Given the description of an element on the screen output the (x, y) to click on. 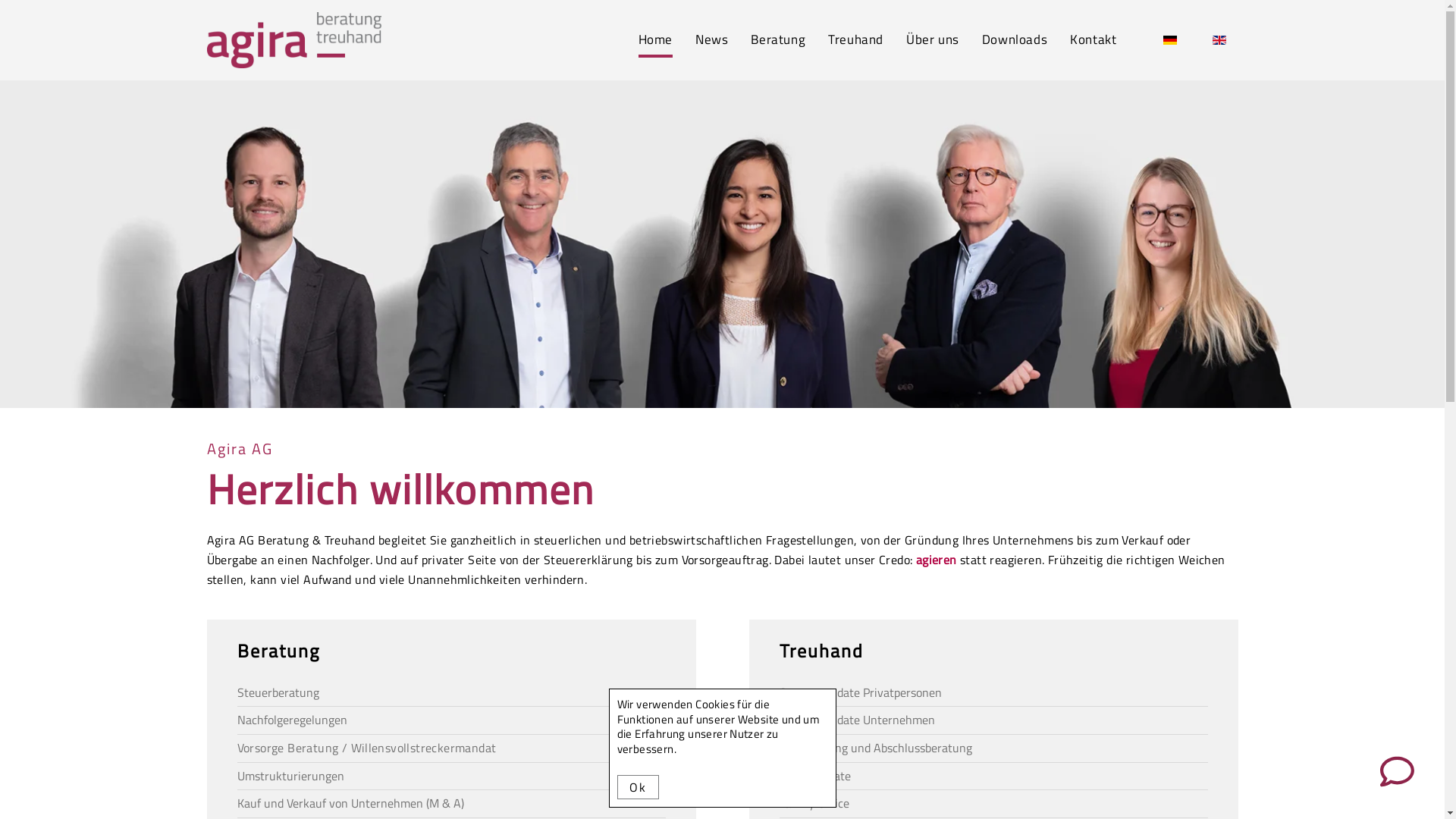
Ok Element type: text (637, 787)
Kontakt Element type: text (1093, 40)
News Element type: text (711, 40)
Kauf und Verkauf von Unternehmen (M & A) Element type: text (349, 802)
English (United Kingdom) Element type: hover (1218, 39)
Nachfolgeregelungen Element type: text (291, 719)
Treuhand Element type: text (855, 40)
Home Element type: text (655, 40)
Steuerberatung Element type: text (277, 692)
Downloads Element type: text (1014, 40)
Vorsorge Beratung / Willensvollstreckermandat Element type: text (450, 748)
Deutsch (Deutschland) Element type: hover (1169, 39)
Family Office Element type: text (993, 803)
Beratung Element type: text (777, 40)
Steuermandate Unternehmen Element type: text (857, 719)
Steuermandate Privatpersonen Element type: text (860, 692)
Umstrukturierungen Element type: text (289, 775)
Lohnmandate Element type: text (814, 775)
